Given the description of an element on the screen output the (x, y) to click on. 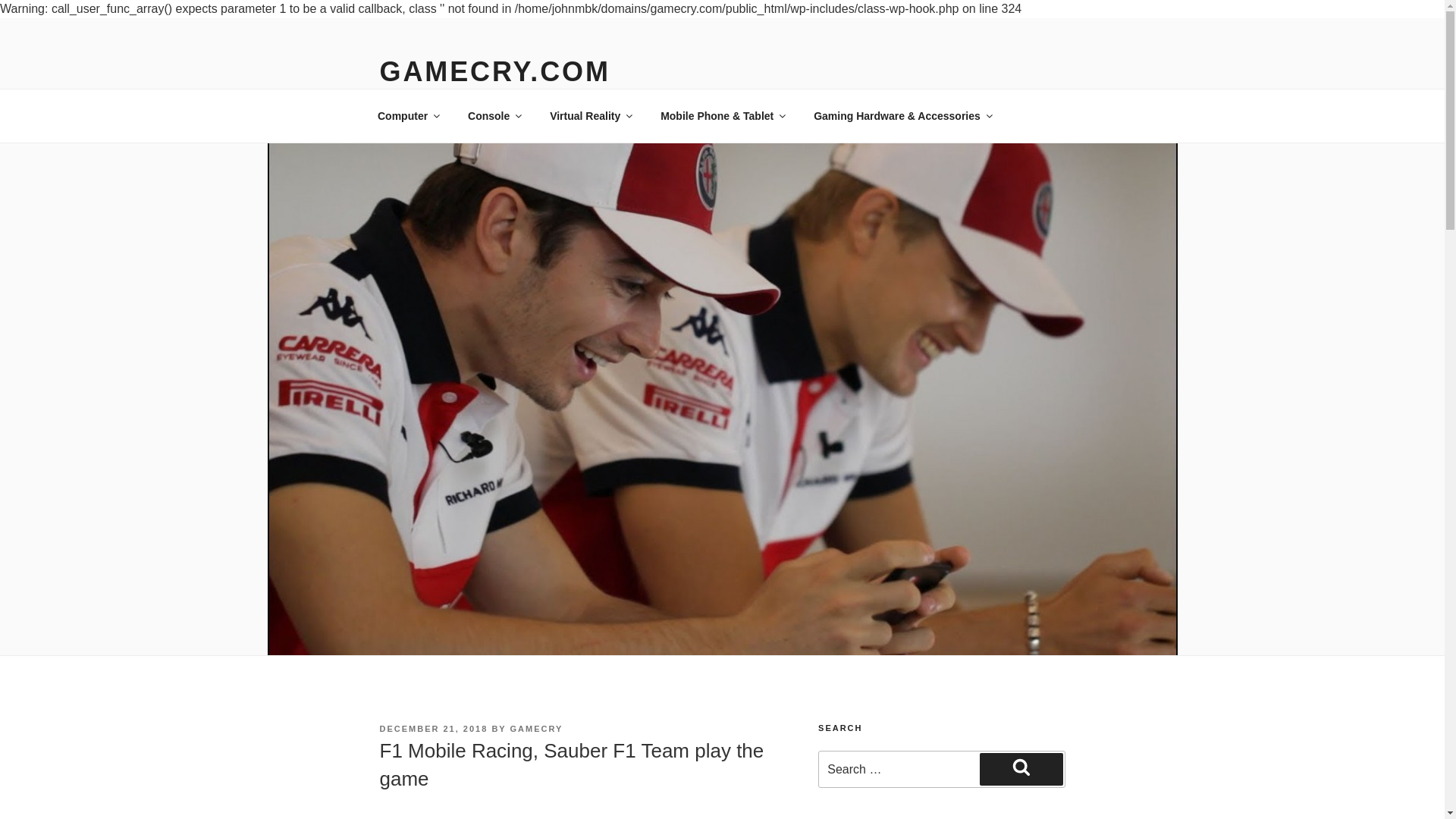
Computer (407, 115)
GAMECRY.COM (494, 71)
Virtual Reality (591, 115)
Console (494, 115)
